Given the description of an element on the screen output the (x, y) to click on. 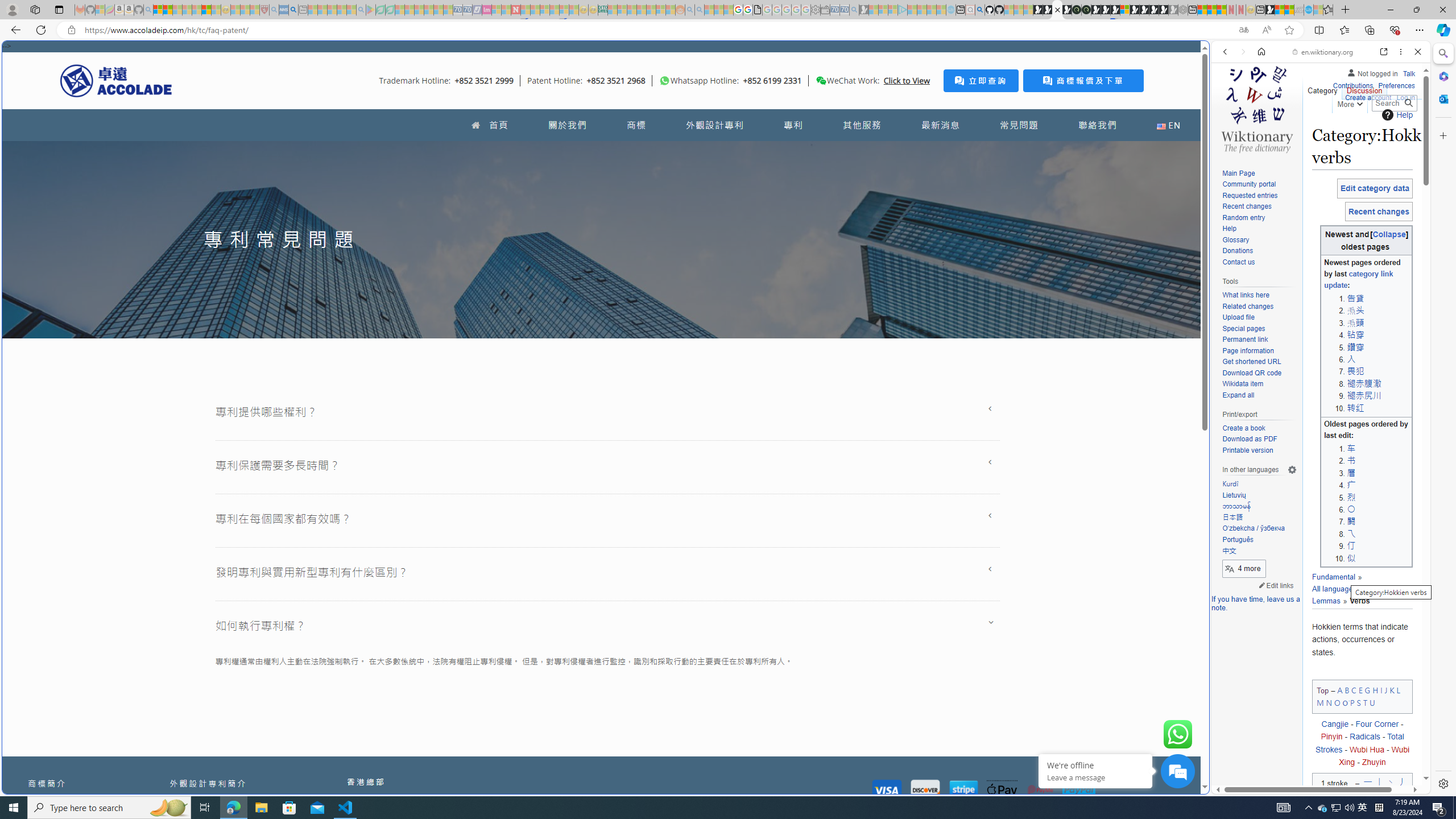
Create account (1367, 96)
Expand all (1238, 394)
S (1358, 701)
